Given the description of an element on the screen output the (x, y) to click on. 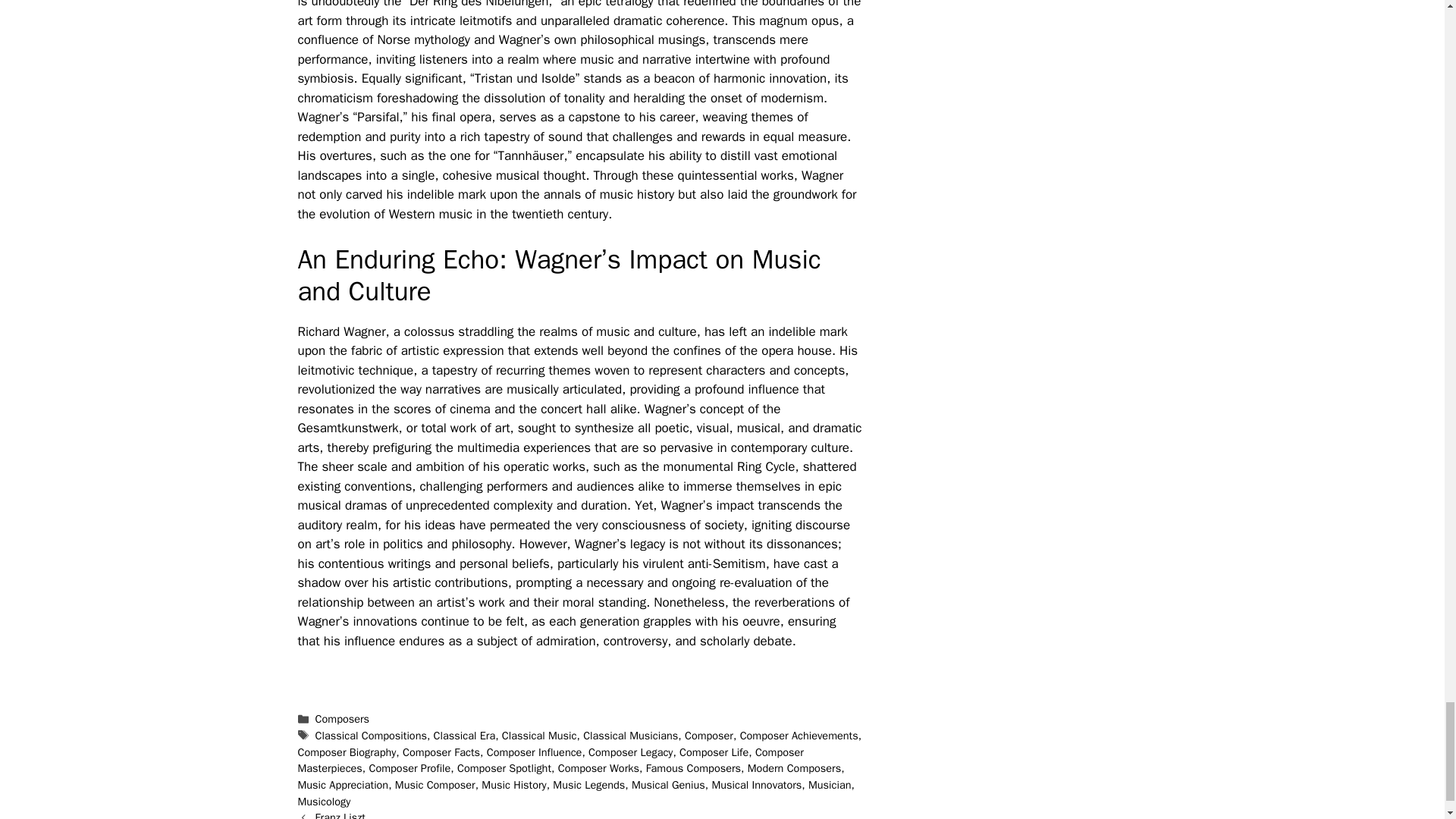
Composer Biography (346, 752)
Composer Influence (534, 752)
Classical Era (464, 735)
Classical Compositions (370, 735)
Composer Life (713, 752)
Composer Facts (441, 752)
Composers (342, 718)
Composer (708, 735)
Composer Legacy (630, 752)
Composer Achievements (799, 735)
Classical Musicians (630, 735)
Classical Music (539, 735)
